Given the description of an element on the screen output the (x, y) to click on. 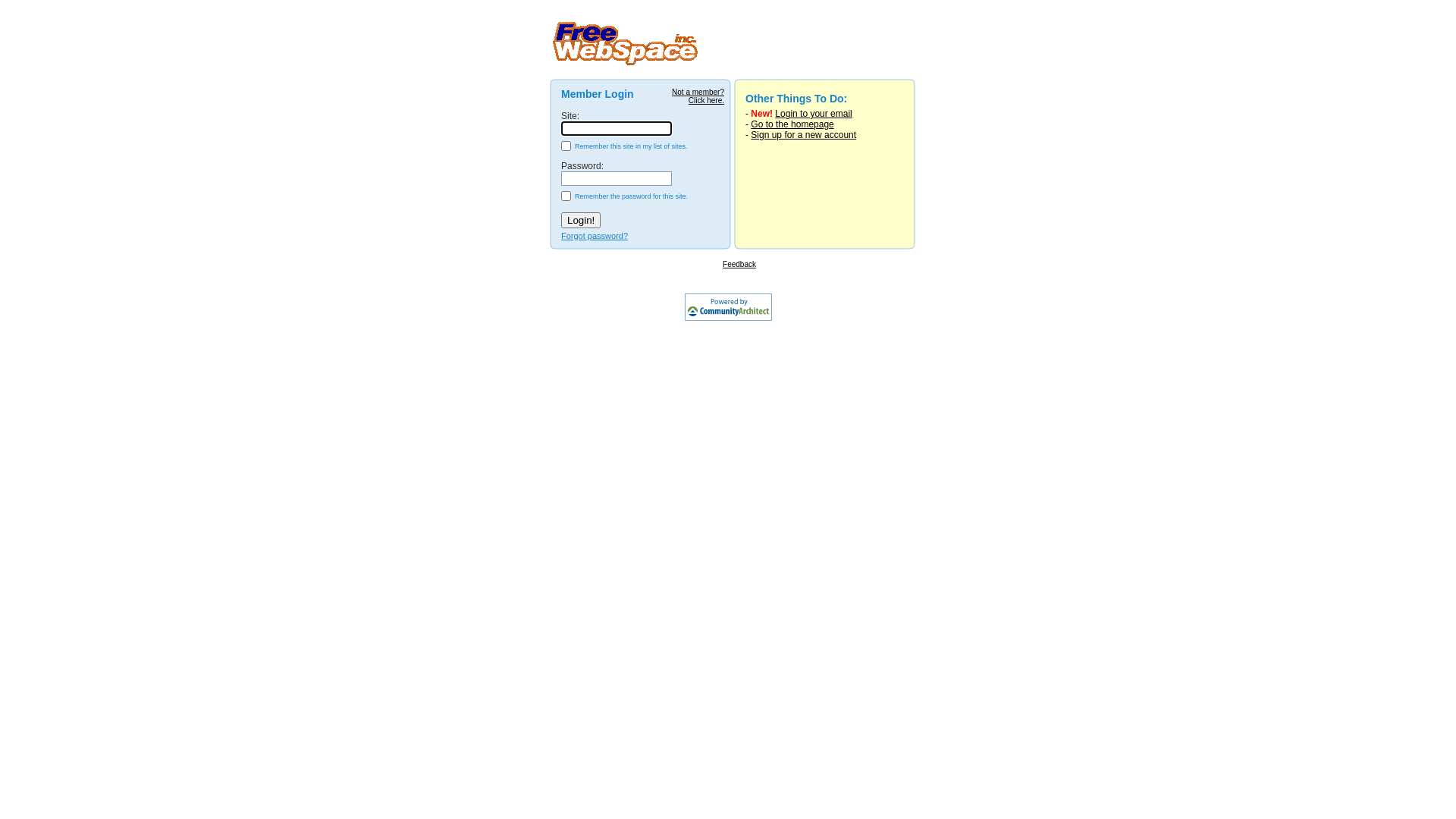
Not a member?
Click here. Element type: text (697, 95)
Feedback Element type: text (739, 264)
Go to the homepage Element type: text (791, 124)
Forgot password? Element type: text (594, 235)
Login to your email Element type: text (813, 113)
Sign up for a new account Element type: text (803, 134)
Login! Element type: text (580, 220)
true Element type: text (566, 145)
